Given the description of an element on the screen output the (x, y) to click on. 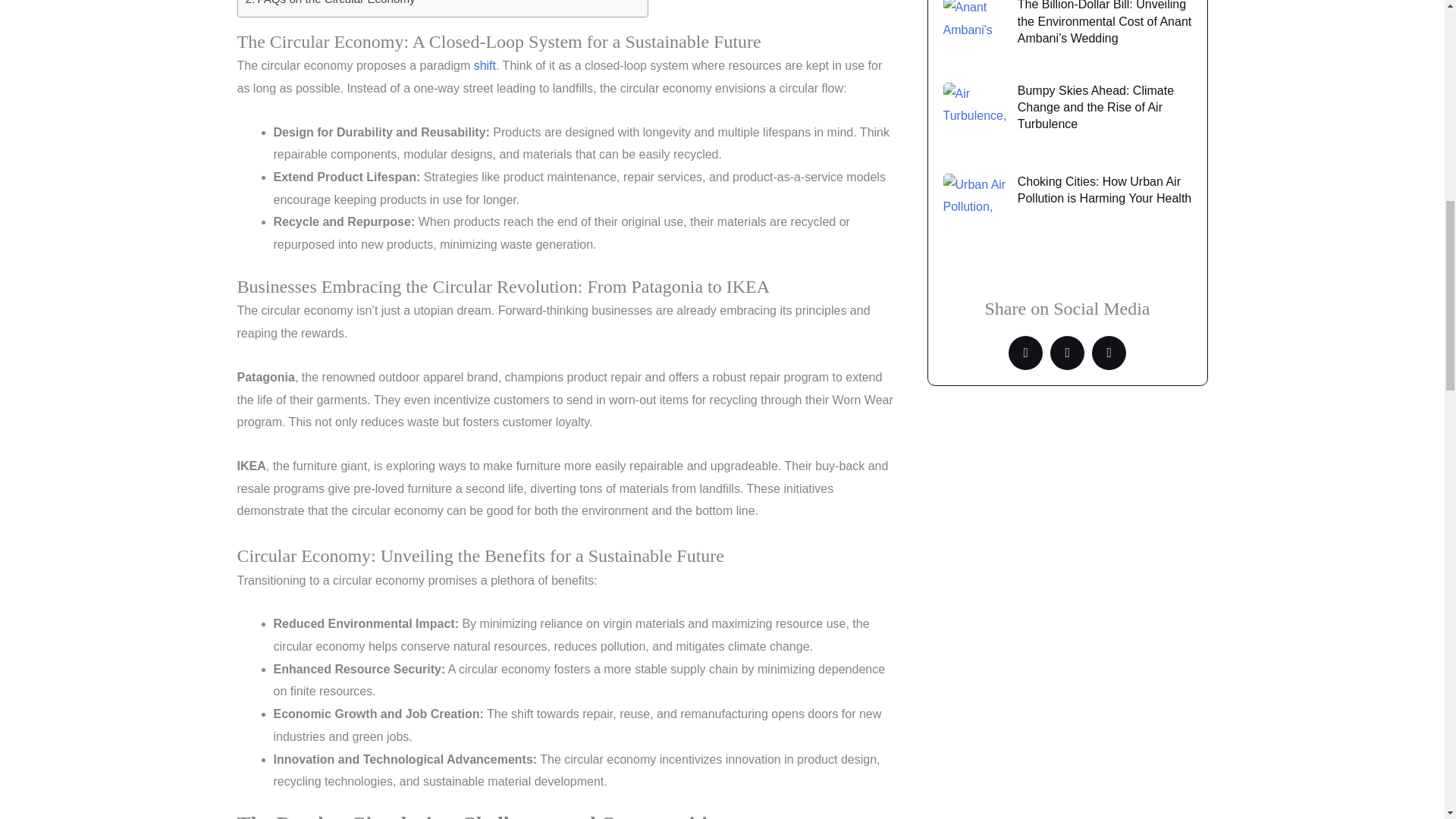
FAQs on the Circular Economy (330, 4)
FAQs on the Circular Economy (330, 4)
shift (485, 65)
